Given the description of an element on the screen output the (x, y) to click on. 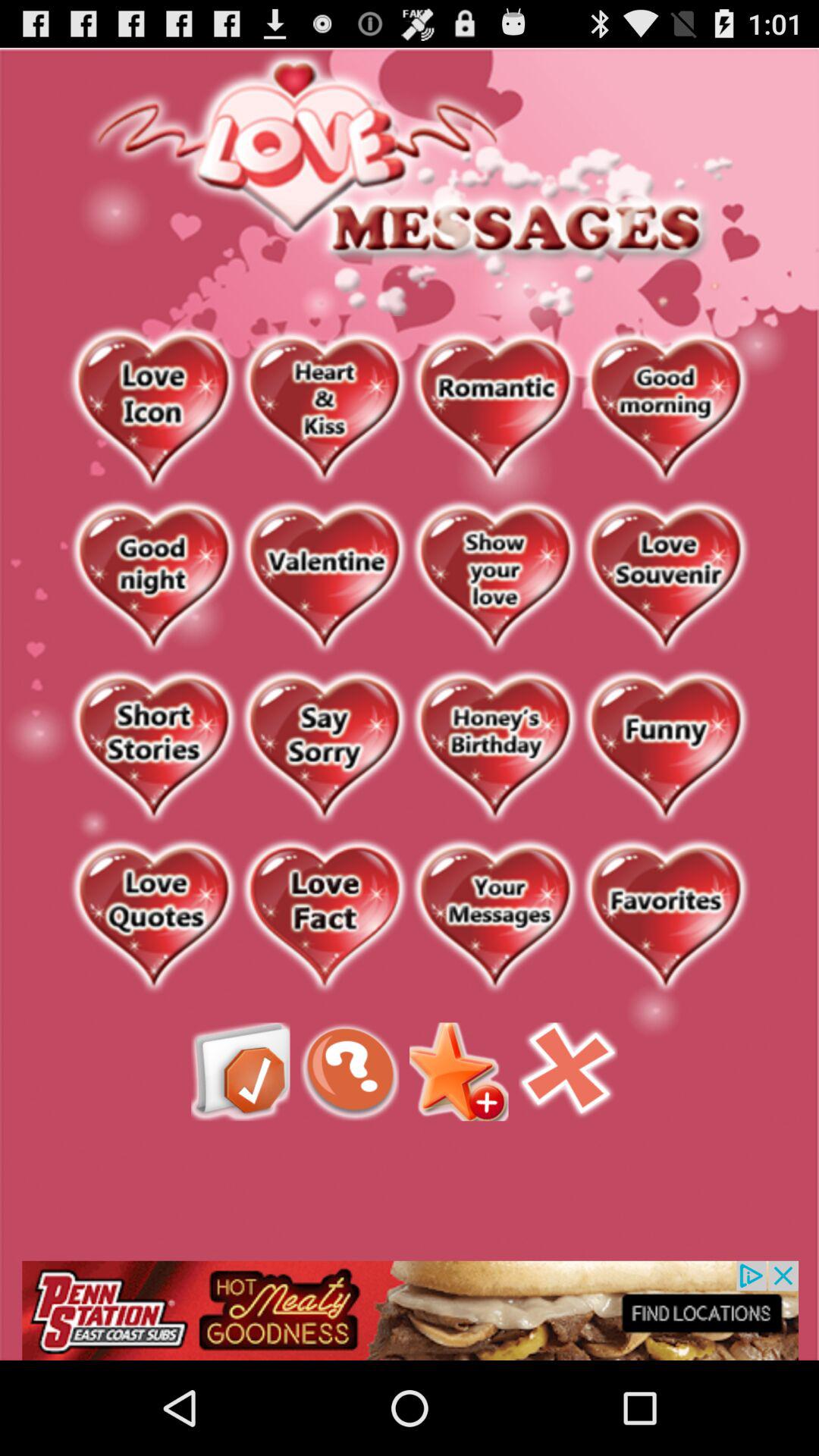
closes the app (567, 1071)
